Given the description of an element on the screen output the (x, y) to click on. 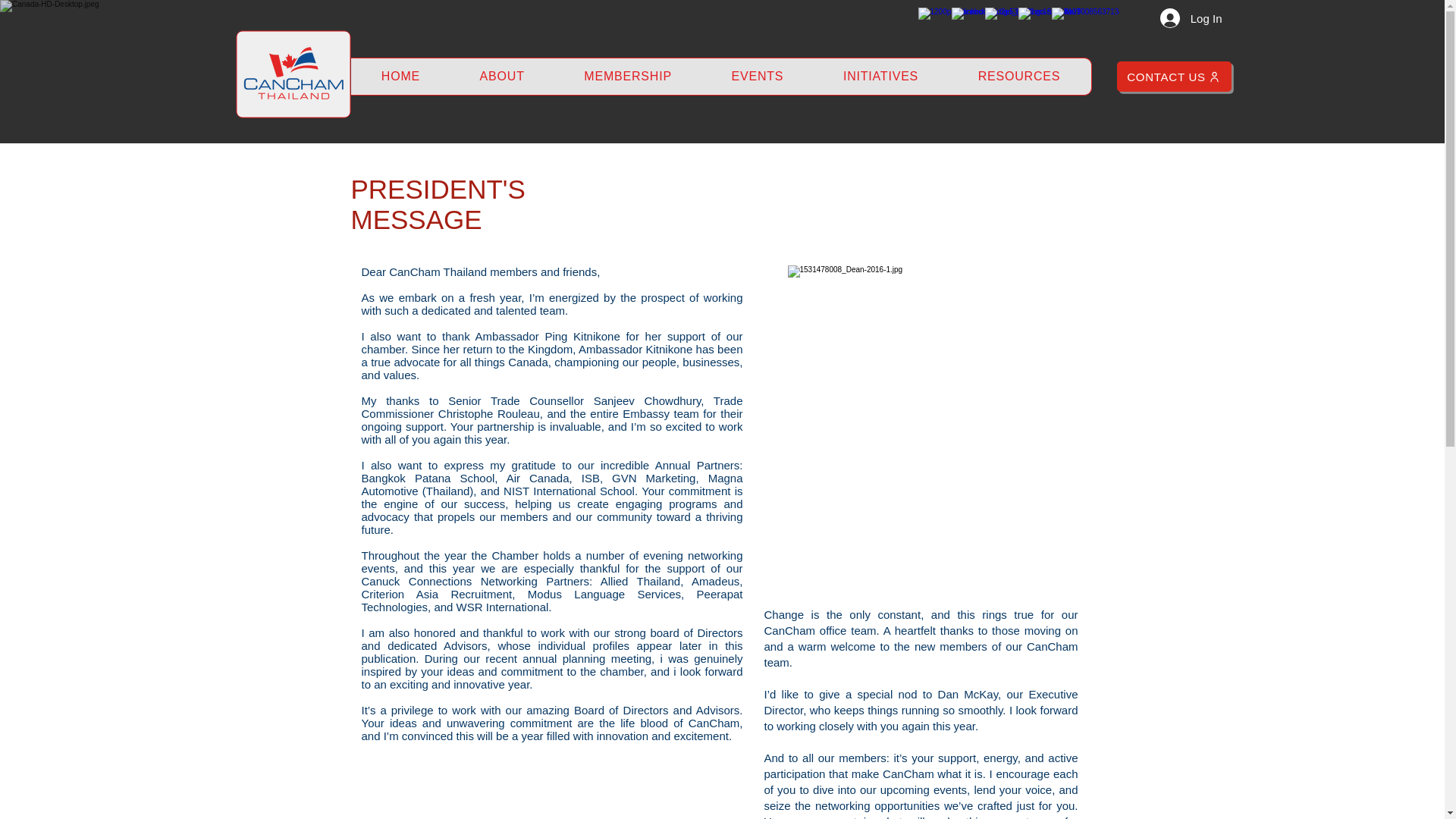
HOME (400, 76)
ABOUT (501, 76)
Log In (1191, 18)
